Given the description of an element on the screen output the (x, y) to click on. 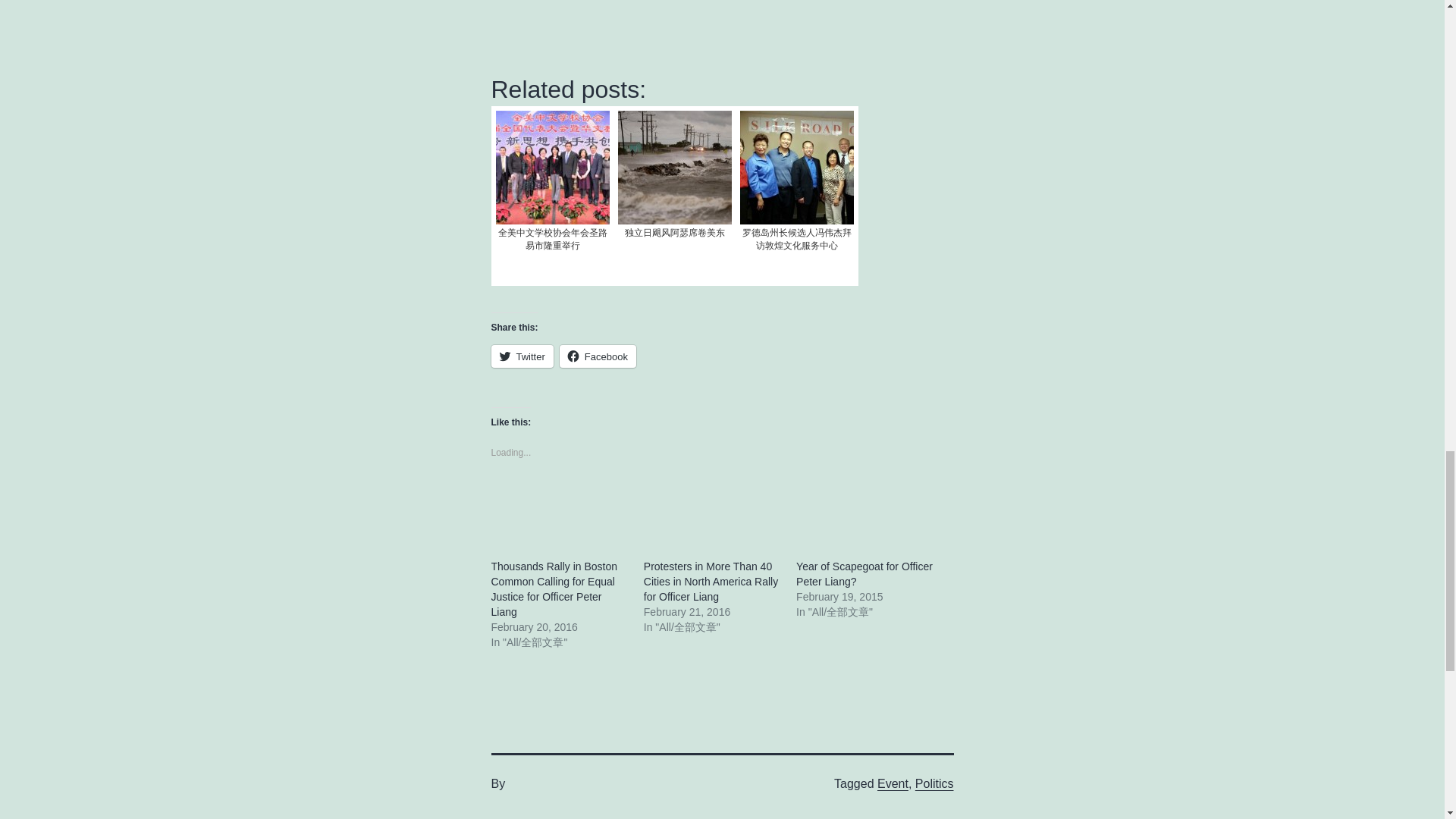
Click to share on Facebook (597, 355)
Year of Scapegoat for Officer Peter Liang? (864, 574)
Facebook (597, 355)
Event (892, 783)
Year of Scapegoat for Officer Peter Liang? (864, 574)
Like or Reblog (722, 499)
Twitter (522, 355)
Politics (934, 783)
Click to share on Twitter (522, 355)
